Given the description of an element on the screen output the (x, y) to click on. 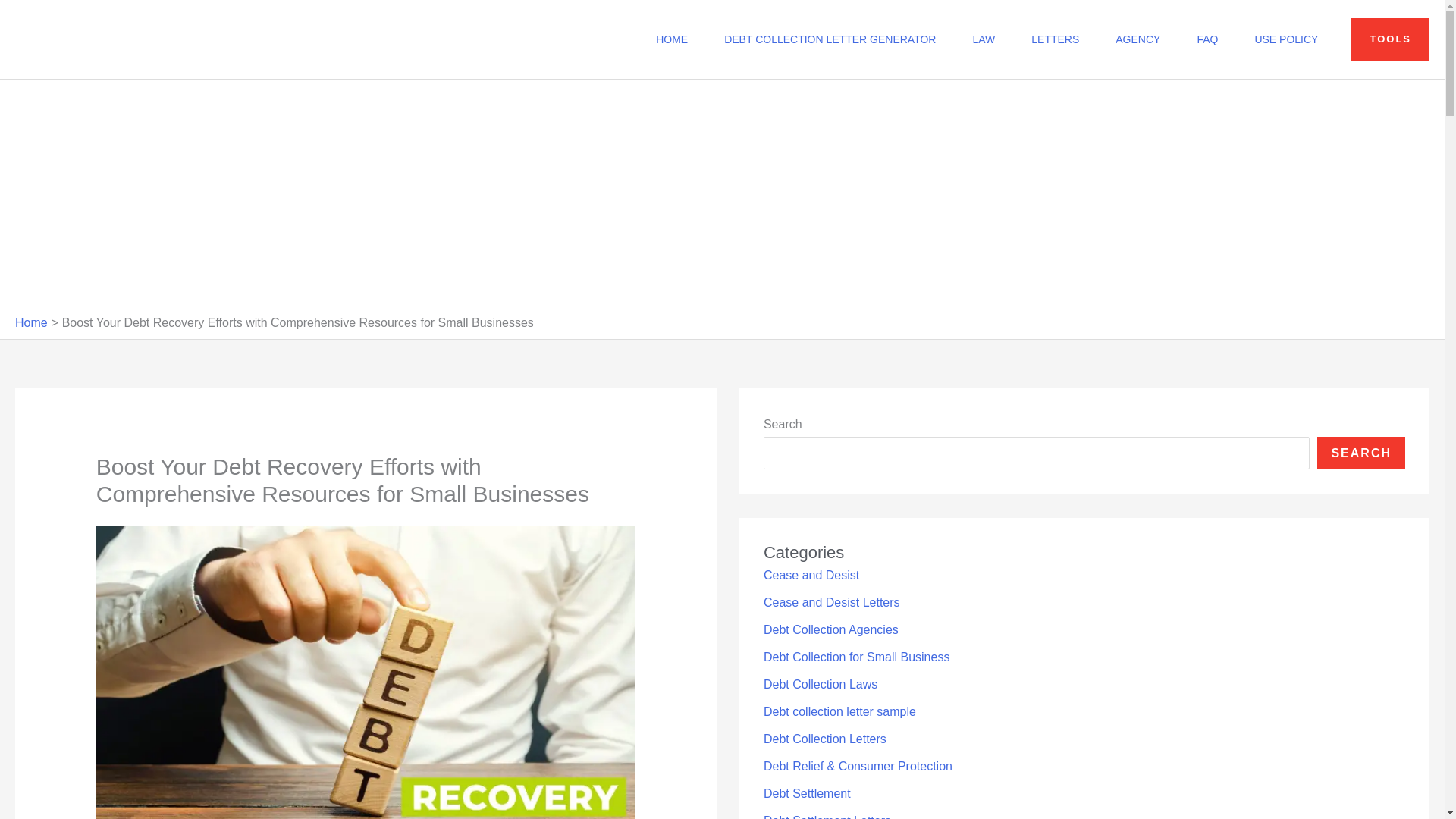
Cease and Desist Letters (830, 602)
Cease and Desist (810, 574)
USE POLICY (1286, 39)
SEARCH (1361, 452)
LETTERS (1055, 39)
AGENCY (1137, 39)
Home (31, 322)
DEBT COLLECTION LETTER GENERATOR (829, 39)
TOOLS (1390, 39)
